Given the description of an element on the screen output the (x, y) to click on. 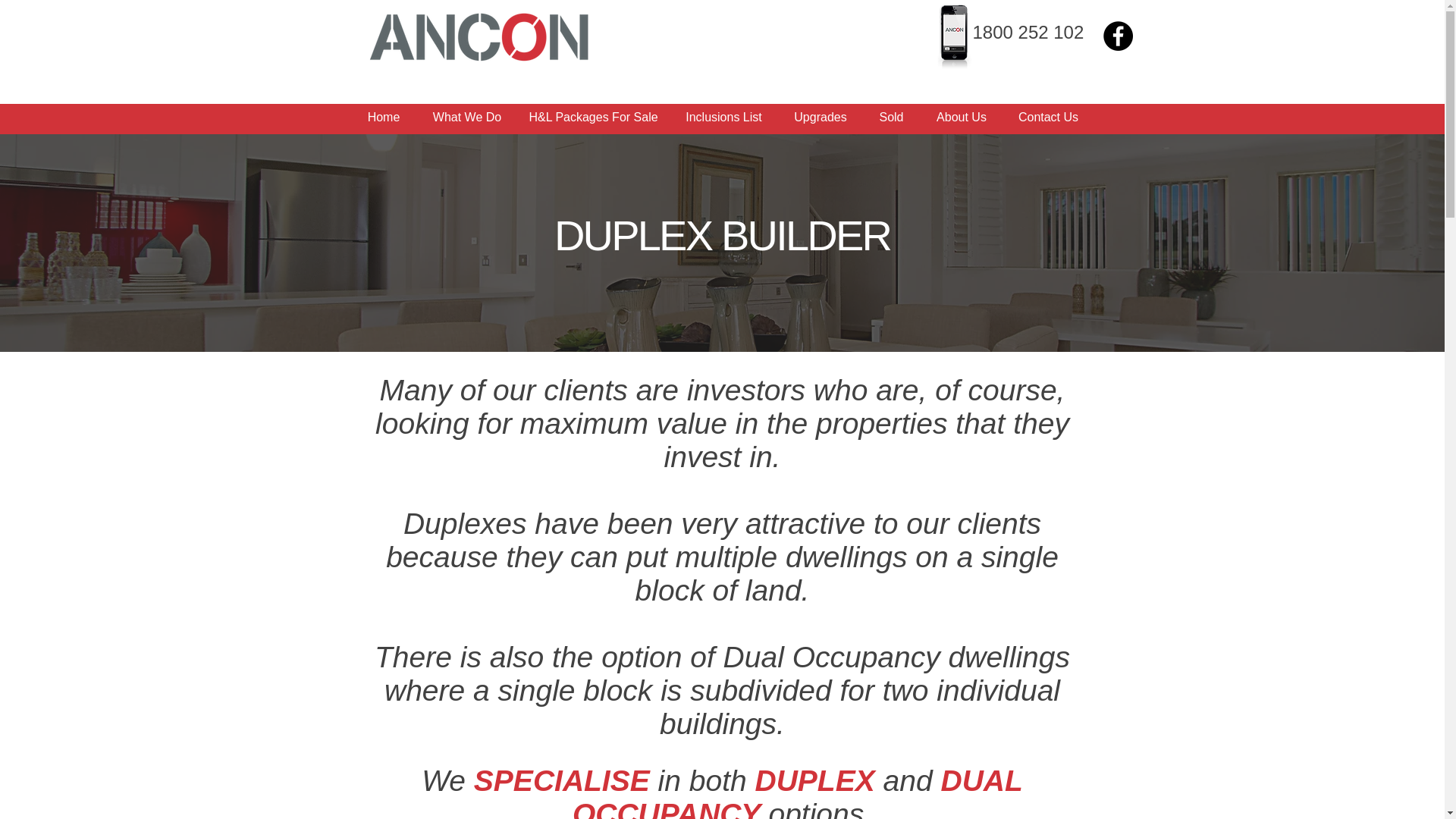
Contact Us (1048, 116)
Inclusions List (722, 116)
About Us (961, 116)
Home (383, 116)
Upgrades (819, 116)
Sold (891, 116)
